Given the description of an element on the screen output the (x, y) to click on. 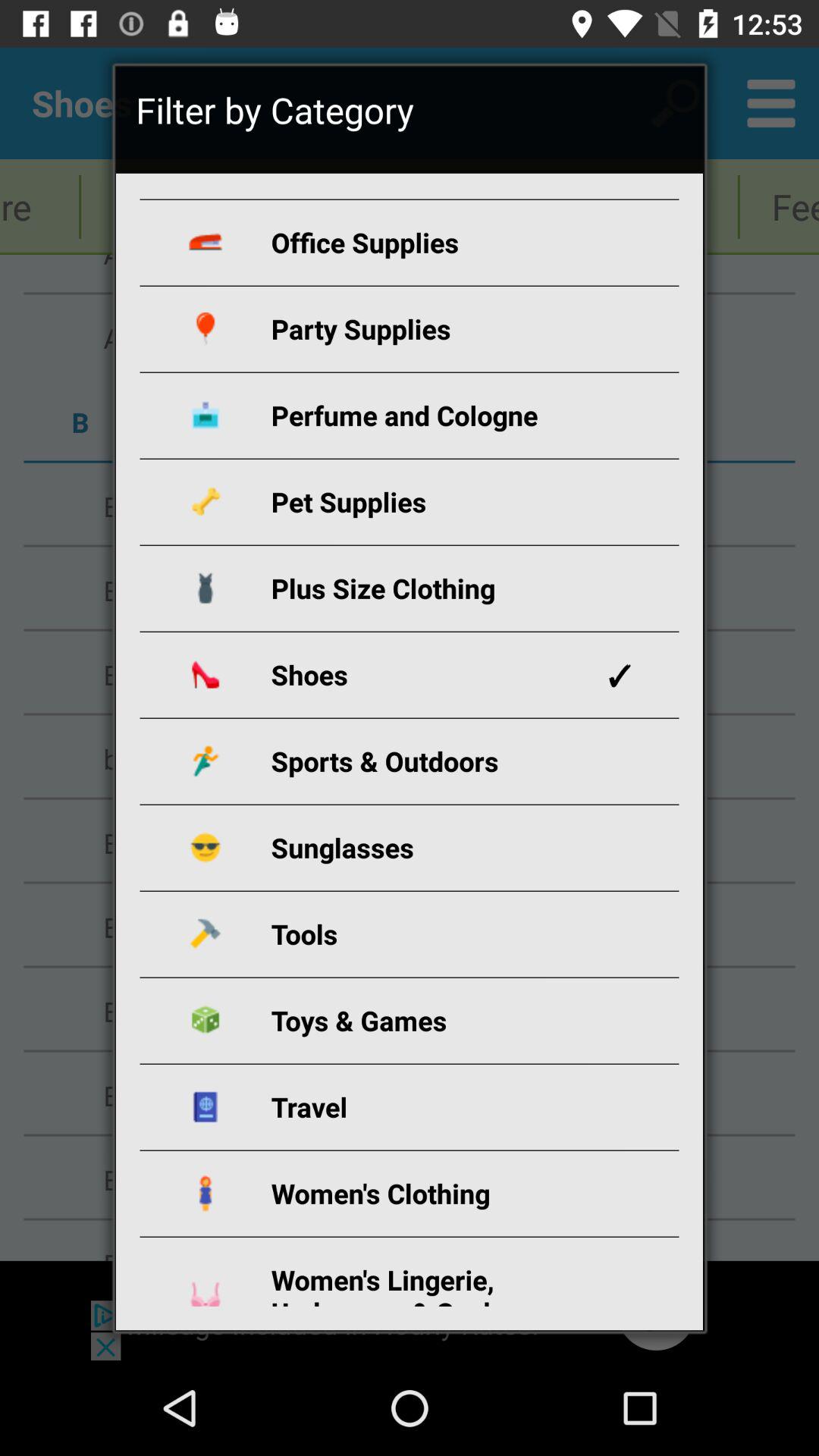
choose the icon below sports & outdoors icon (427, 847)
